Given the description of an element on the screen output the (x, y) to click on. 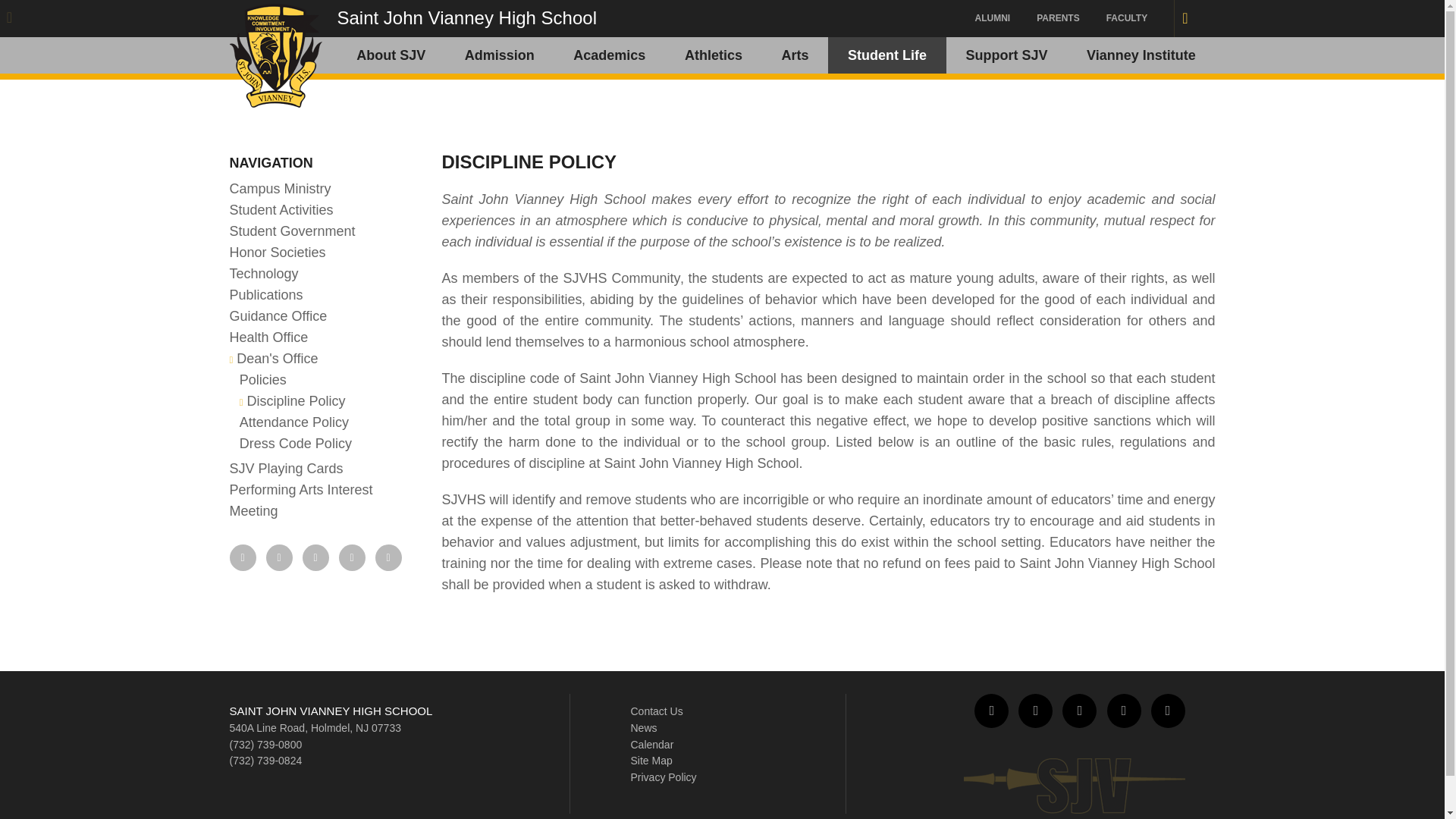
FACULTY (1126, 18)
PARENTS (1057, 18)
ALUMNI (992, 18)
Admission (499, 54)
About SJV (390, 54)
